Given the description of an element on the screen output the (x, y) to click on. 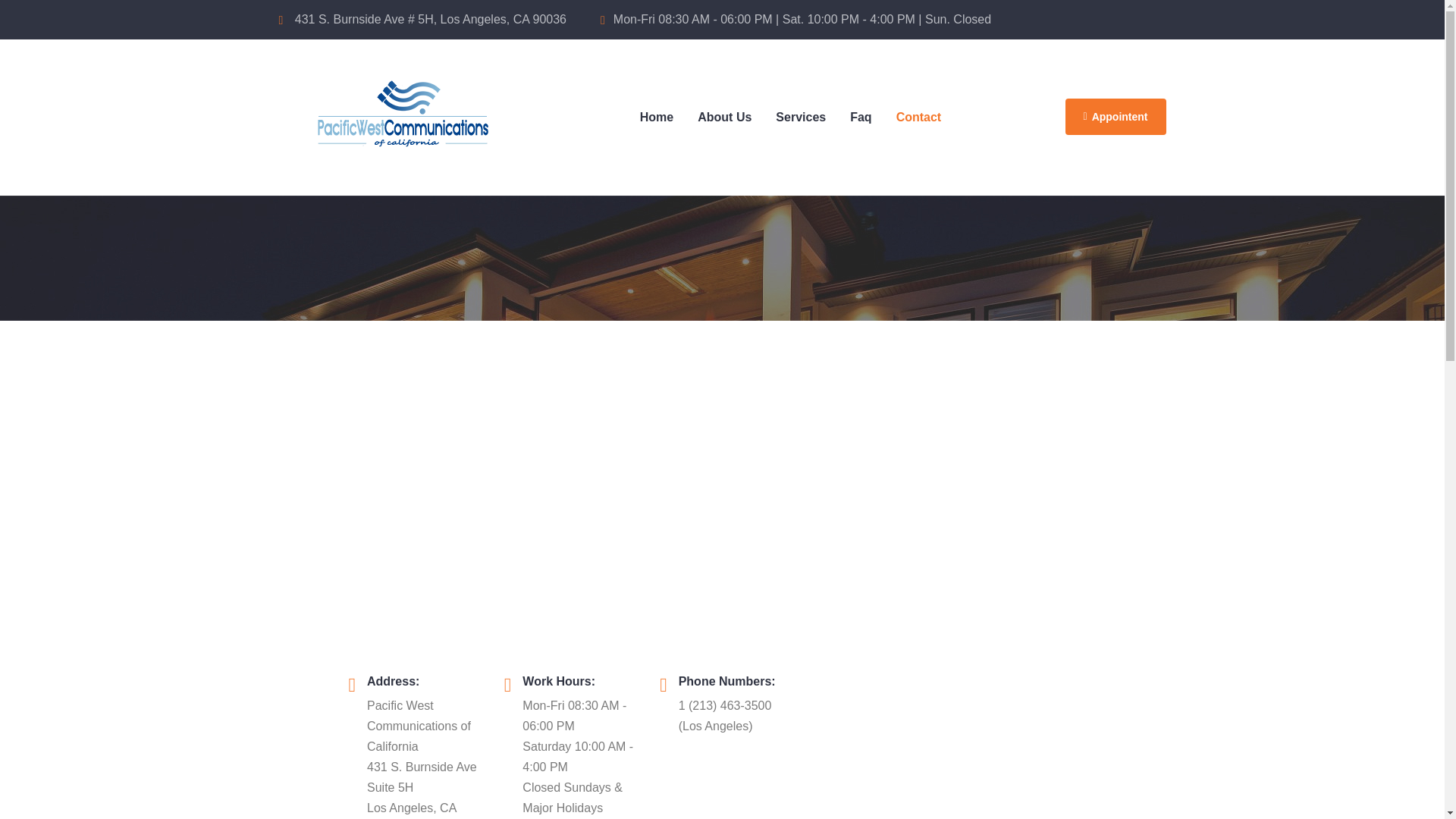
Home (656, 117)
About Us (723, 117)
Services (800, 117)
Appointent (1115, 116)
Faq (860, 117)
Contact (918, 117)
